Given the description of an element on the screen output the (x, y) to click on. 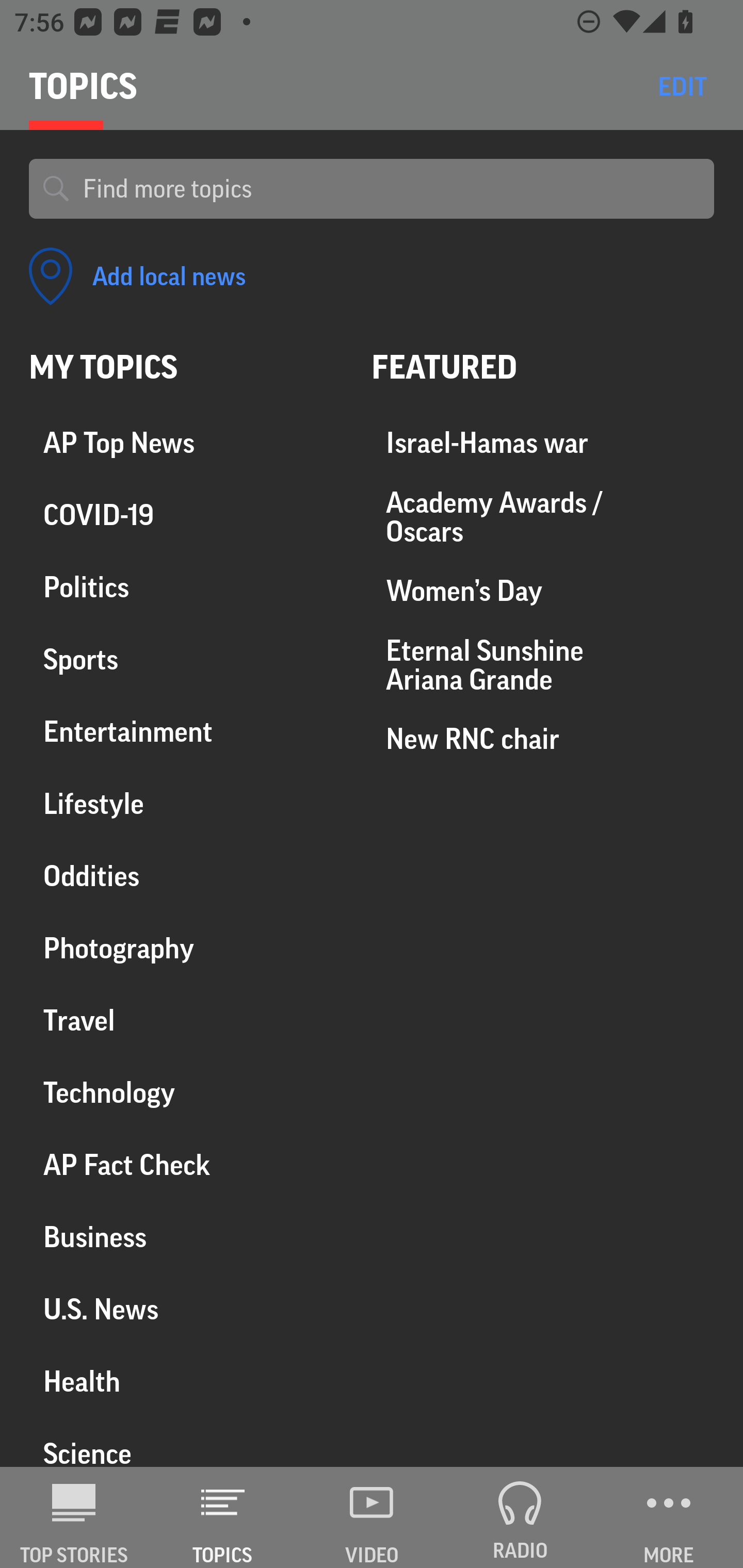
EDIT (682, 86)
Find more topics (391, 188)
Add local news (137, 276)
AP Top News (185, 443)
Israel-Hamas war (542, 443)
COVID-19 (185, 515)
Academy Awards / Oscars (542, 517)
Politics (185, 587)
Women’s Day (542, 591)
Sports (185, 660)
Eternal Sunshine Ariana Grande (542, 664)
Entertainment (185, 732)
New RNC chair (542, 738)
Lifestyle (185, 804)
Oddities (185, 876)
Photography (185, 948)
Travel (185, 1020)
Technology (185, 1092)
AP Fact Check (185, 1164)
Business (185, 1237)
U.S. News (185, 1309)
Health (185, 1381)
Science (185, 1442)
AP News TOP STORIES (74, 1517)
TOPICS (222, 1517)
VIDEO (371, 1517)
RADIO (519, 1517)
MORE (668, 1517)
